Given the description of an element on the screen output the (x, y) to click on. 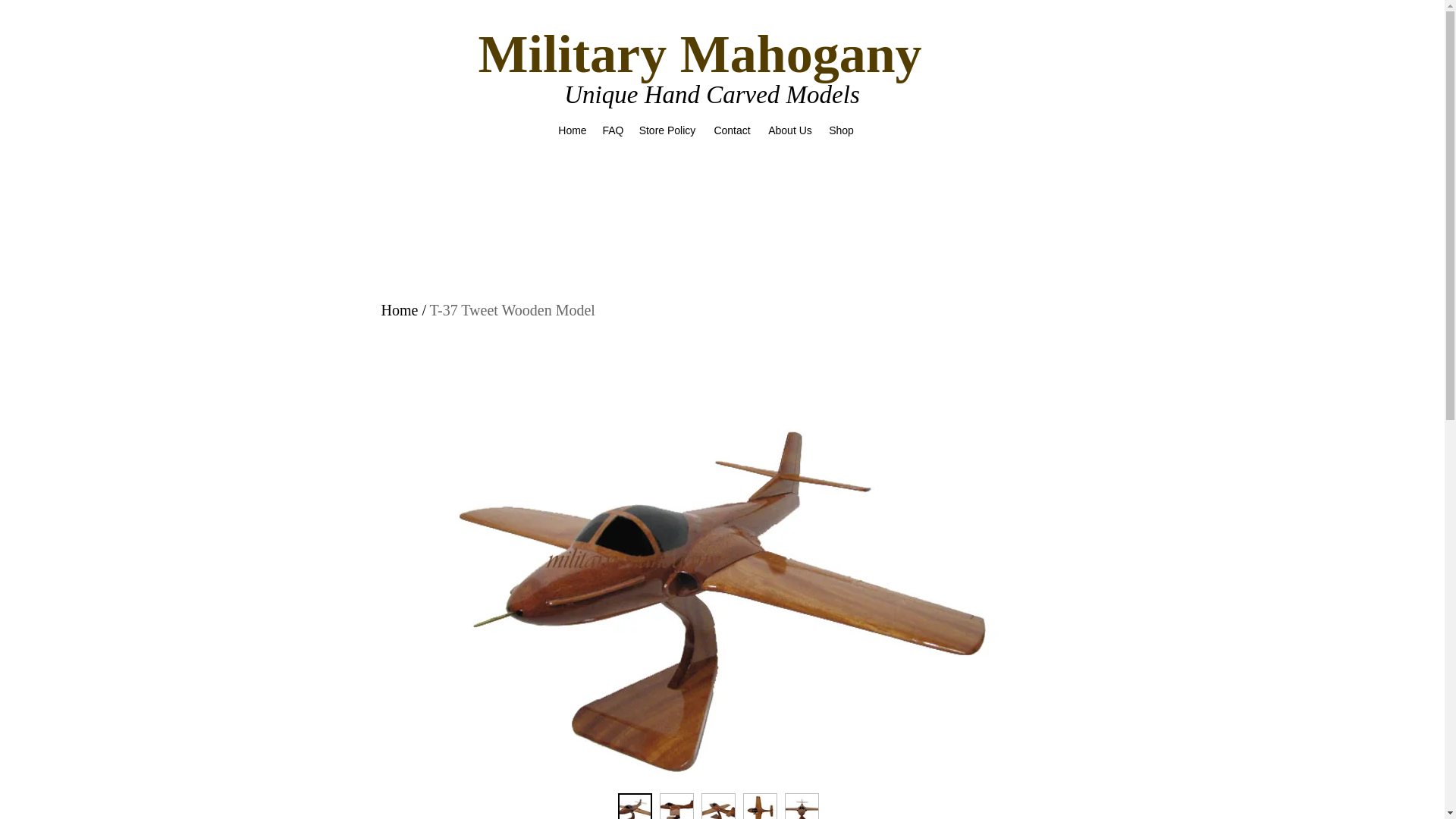
Shop (841, 129)
FAQ (611, 129)
Home (398, 310)
Home (572, 129)
Military Mahogany (699, 54)
About Us (790, 129)
T-37 Tweet Wooden Model (512, 310)
Unique Hand Carved Models (712, 94)
Contact (732, 129)
Store Policy (666, 129)
